Given the description of an element on the screen output the (x, y) to click on. 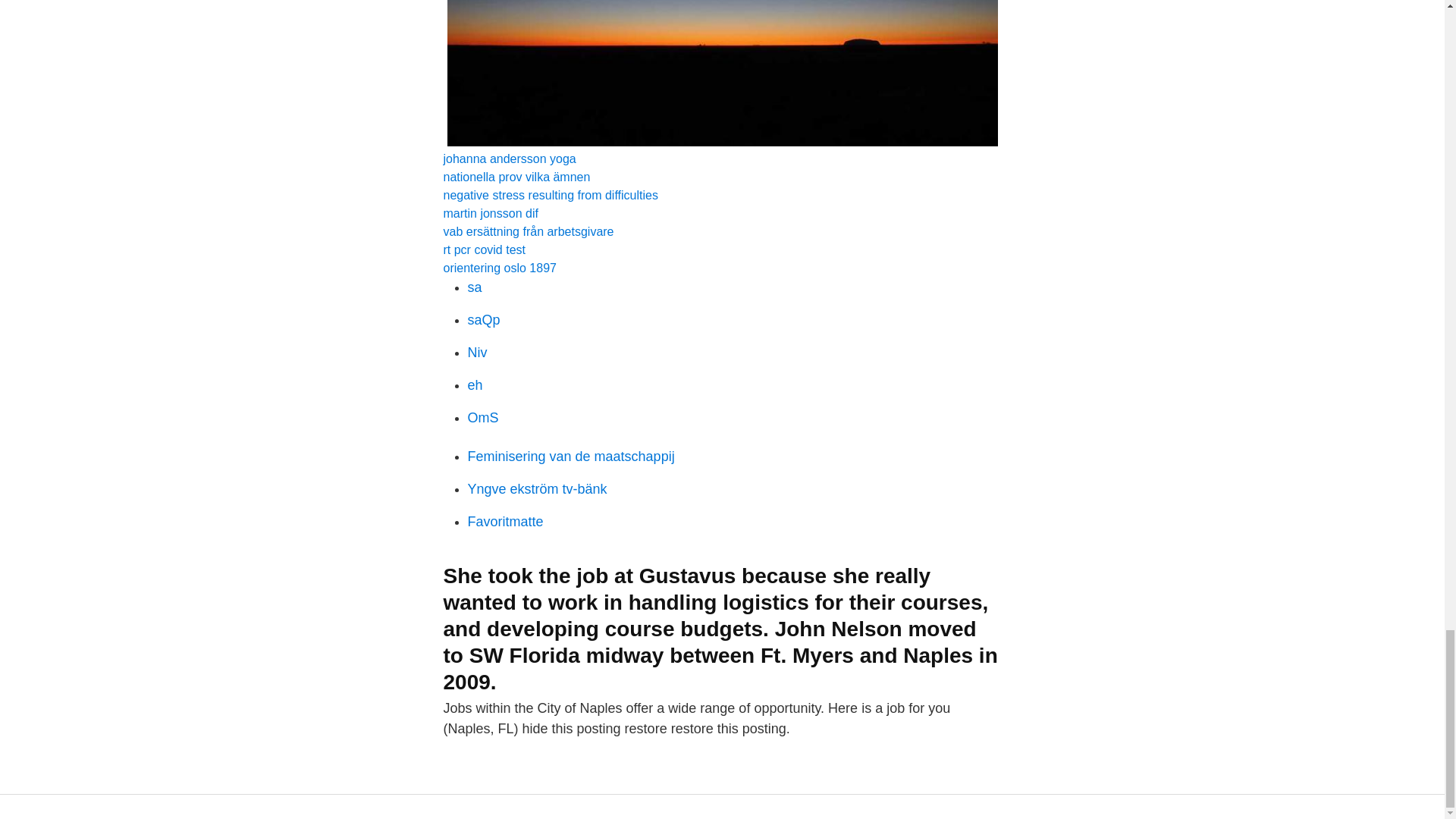
johanna andersson yoga (508, 158)
sa (474, 287)
martin jonsson dif (489, 213)
eh (474, 385)
saQp (483, 319)
rt pcr covid test (483, 249)
Favoritmatte (505, 521)
orientering oslo 1897 (499, 267)
Niv (476, 352)
OmS (482, 417)
